Given the description of an element on the screen output the (x, y) to click on. 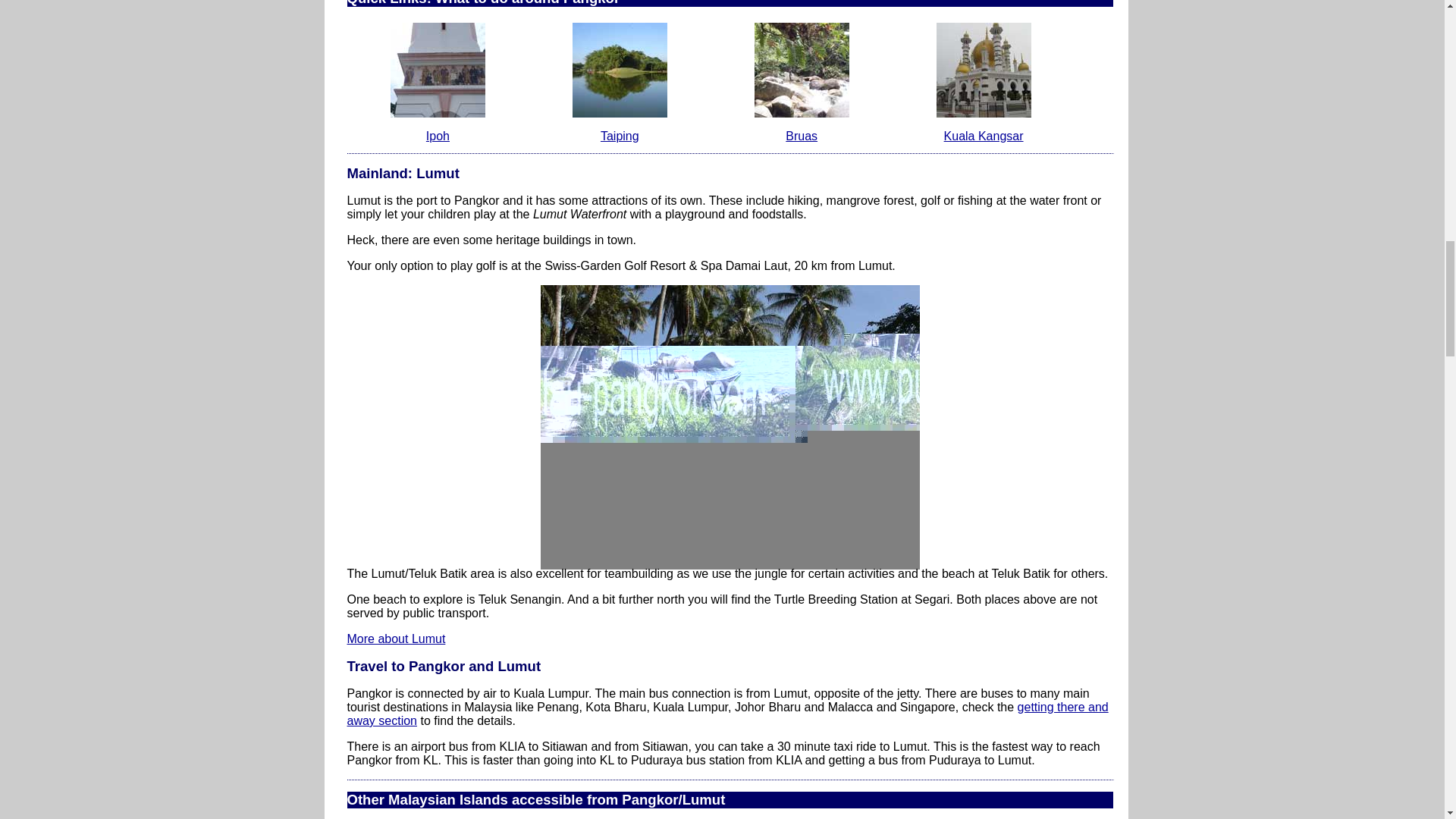
Taiping, Lake Gardens (619, 69)
Pulau Pangkor (729, 427)
Hutan Lipur Ulu Licin near Bruas (801, 69)
Ipoh, Birch Clocktower (437, 69)
Kuala Kangsar (983, 69)
